Given the description of an element on the screen output the (x, y) to click on. 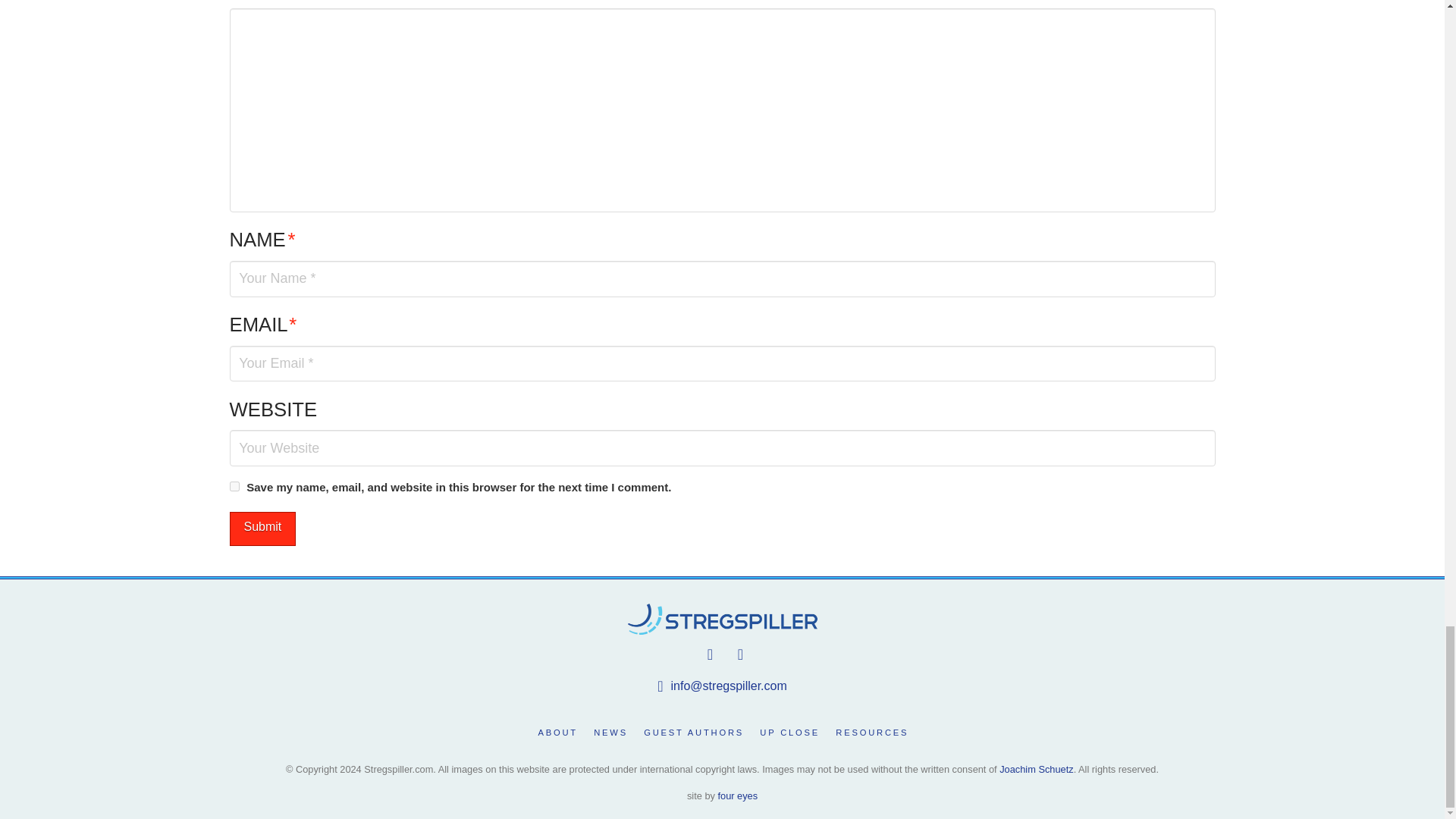
yes (233, 486)
Submit (261, 528)
